Given the description of an element on the screen output the (x, y) to click on. 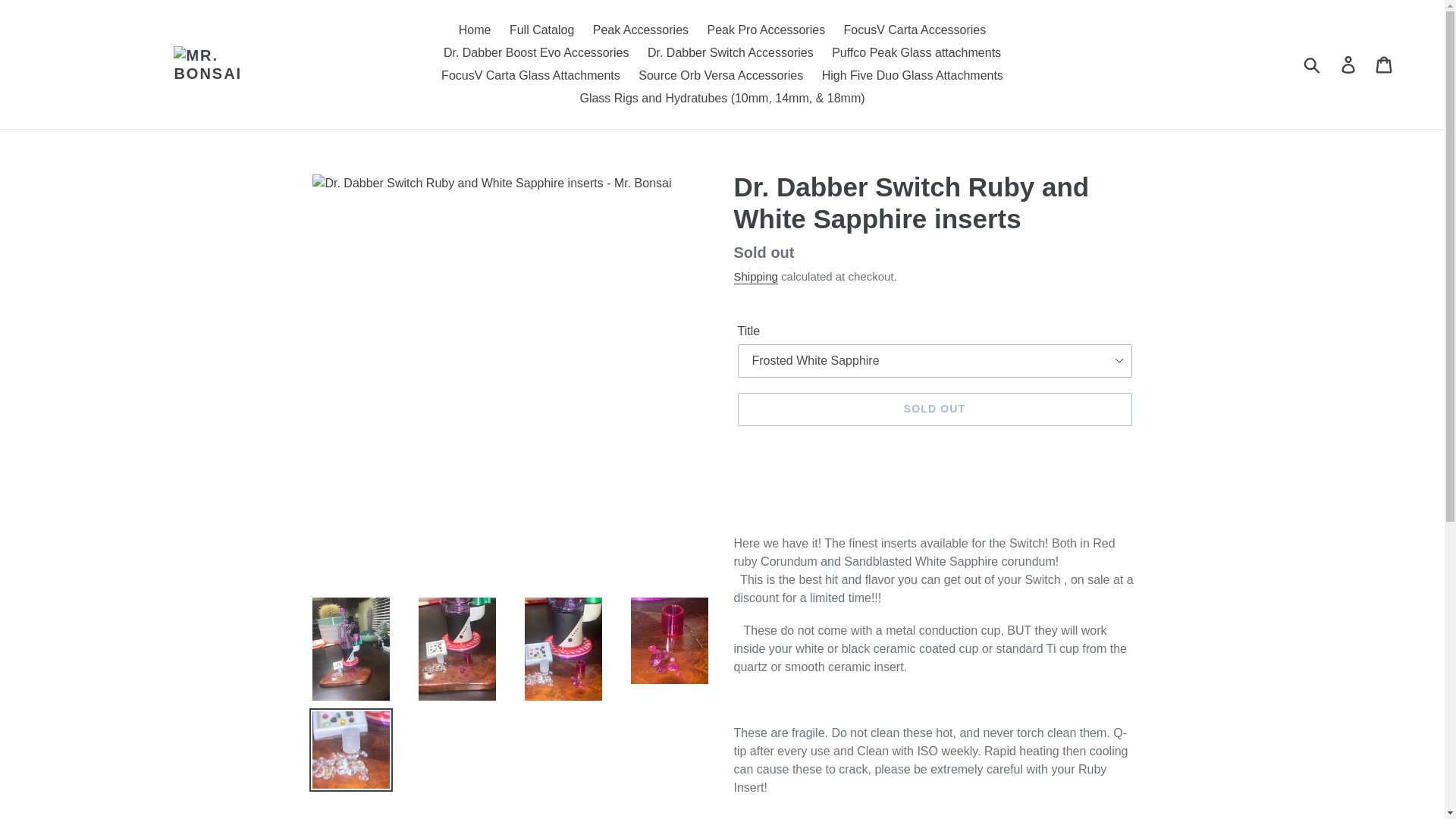
FocusV Carta Glass Attachments (530, 75)
Source Orb Versa Accessories (720, 75)
Peak Pro Accessories (765, 29)
Cart (1385, 64)
Home (475, 29)
Log in (1349, 64)
Puffco Peak Glass attachments (916, 52)
Submit (1313, 64)
Full Catalog (541, 29)
High Five Duo Glass Attachments (911, 75)
